Given the description of an element on the screen output the (x, y) to click on. 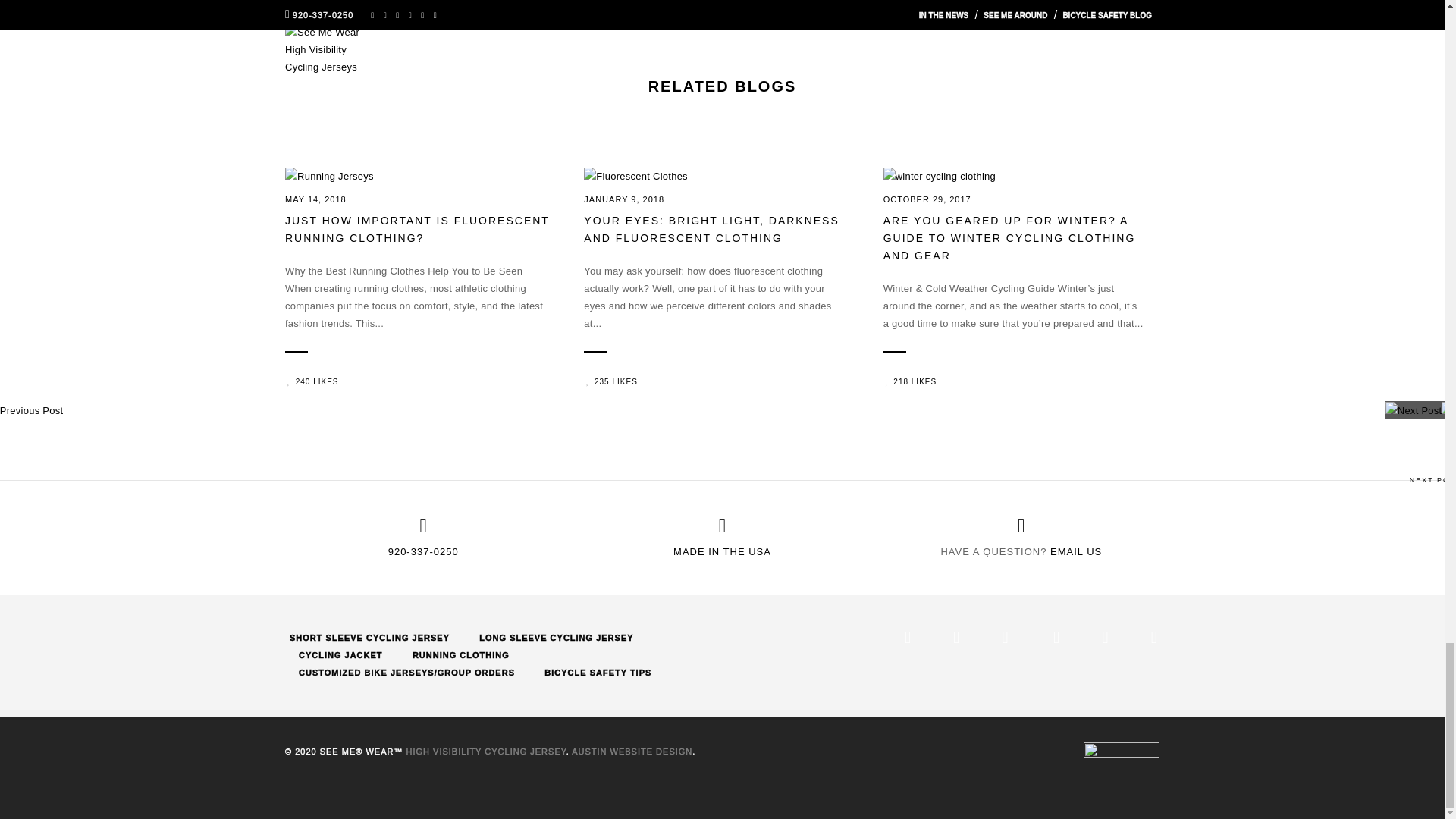
Like (610, 381)
Like (909, 381)
Like (311, 381)
